Given the description of an element on the screen output the (x, y) to click on. 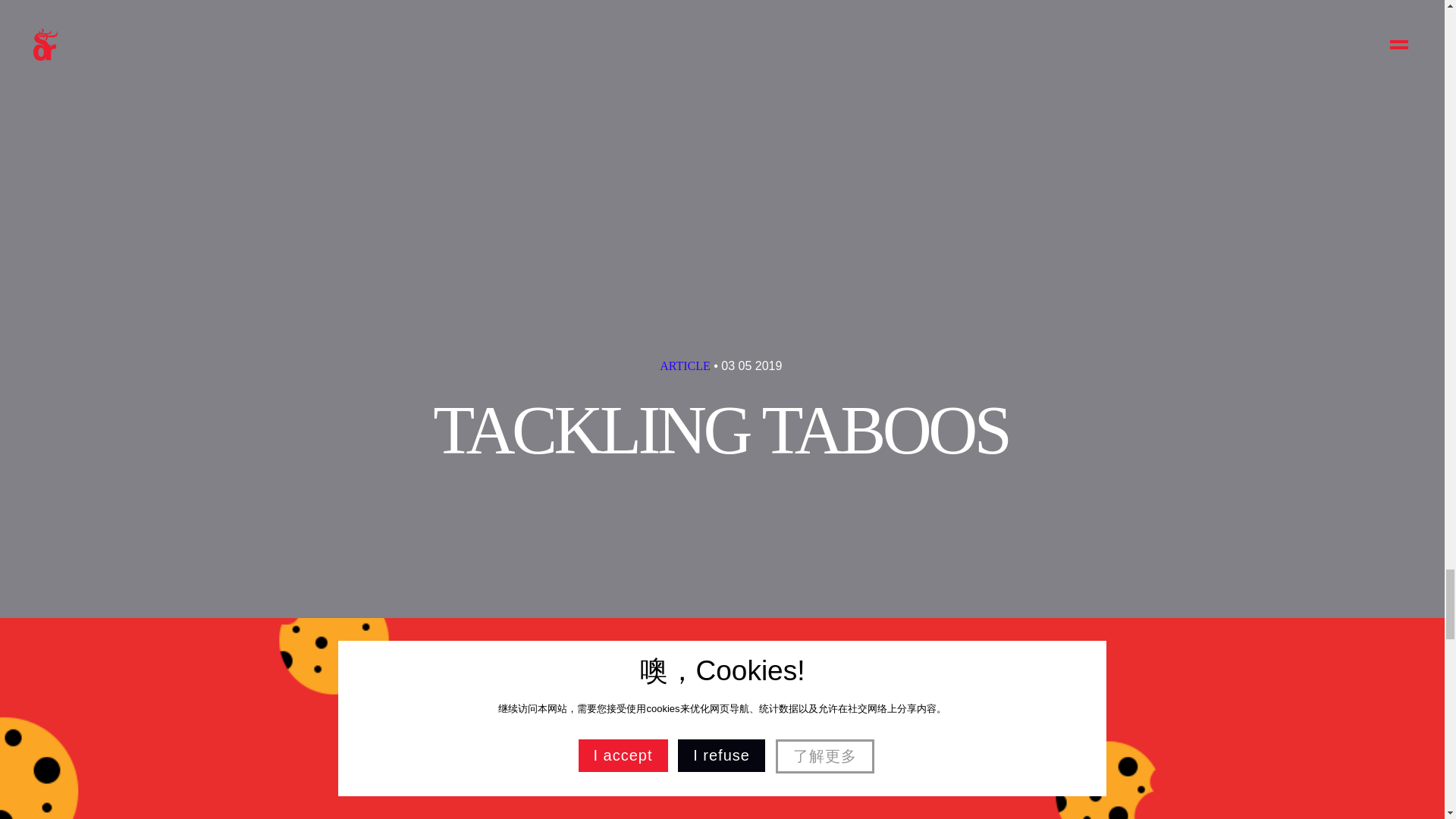
Treatwell (570, 118)
Campaign Against Living Miserably (707, 73)
Who Gives A Crap (701, 84)
get in touch (932, 371)
